Given the description of an element on the screen output the (x, y) to click on. 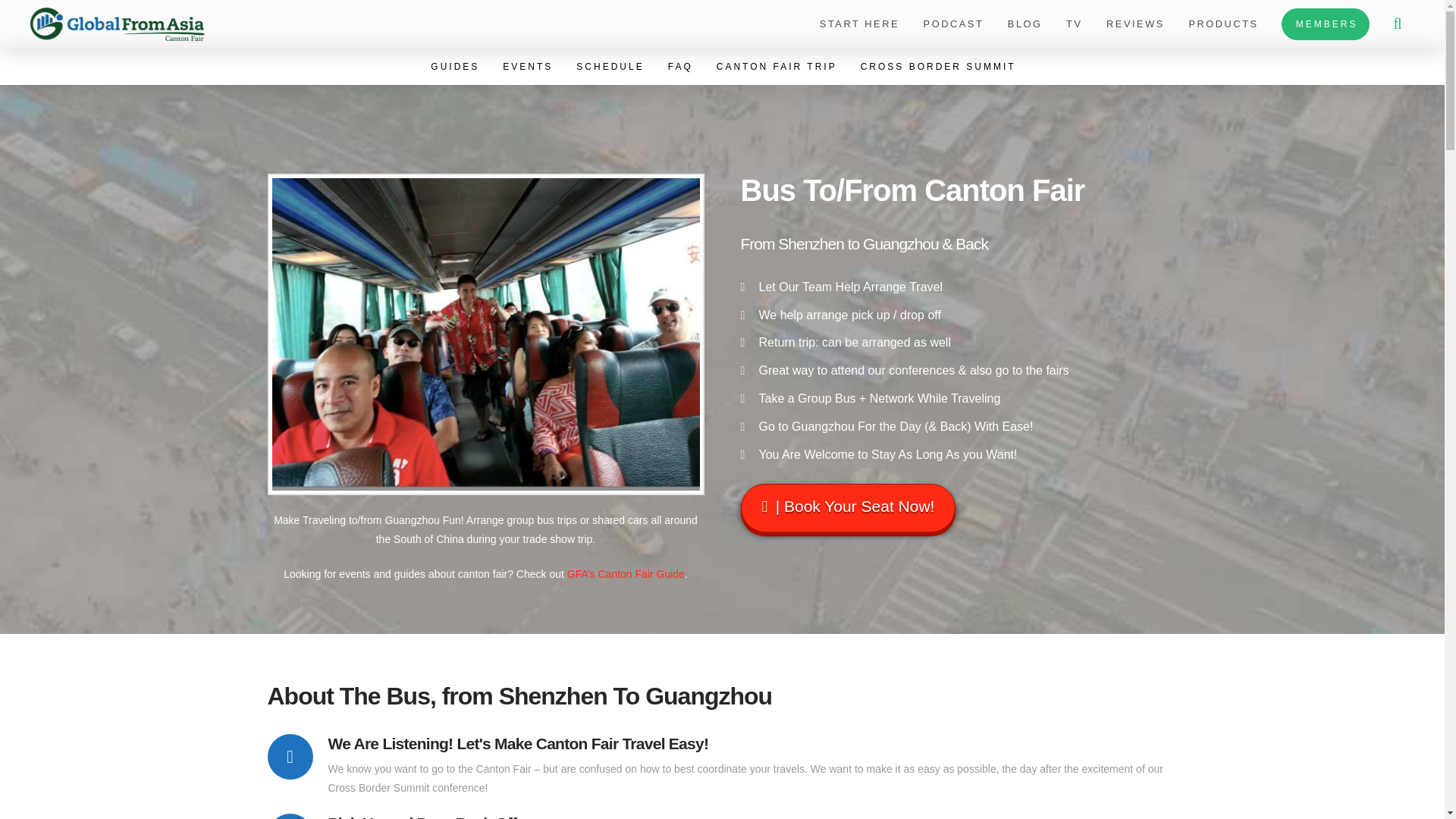
START HERE (858, 24)
GUIDES (453, 66)
CANTON FAIR TRIP (775, 66)
CROSS BORDER SUMMIT (936, 66)
SCHEDULE (608, 66)
BLOG (1023, 24)
PODCAST (952, 24)
REVIEWS (1133, 24)
EVENTS (526, 66)
FAQ (679, 66)
MEMBERS (1325, 24)
PRODUCTS (1221, 24)
